Given the description of an element on the screen output the (x, y) to click on. 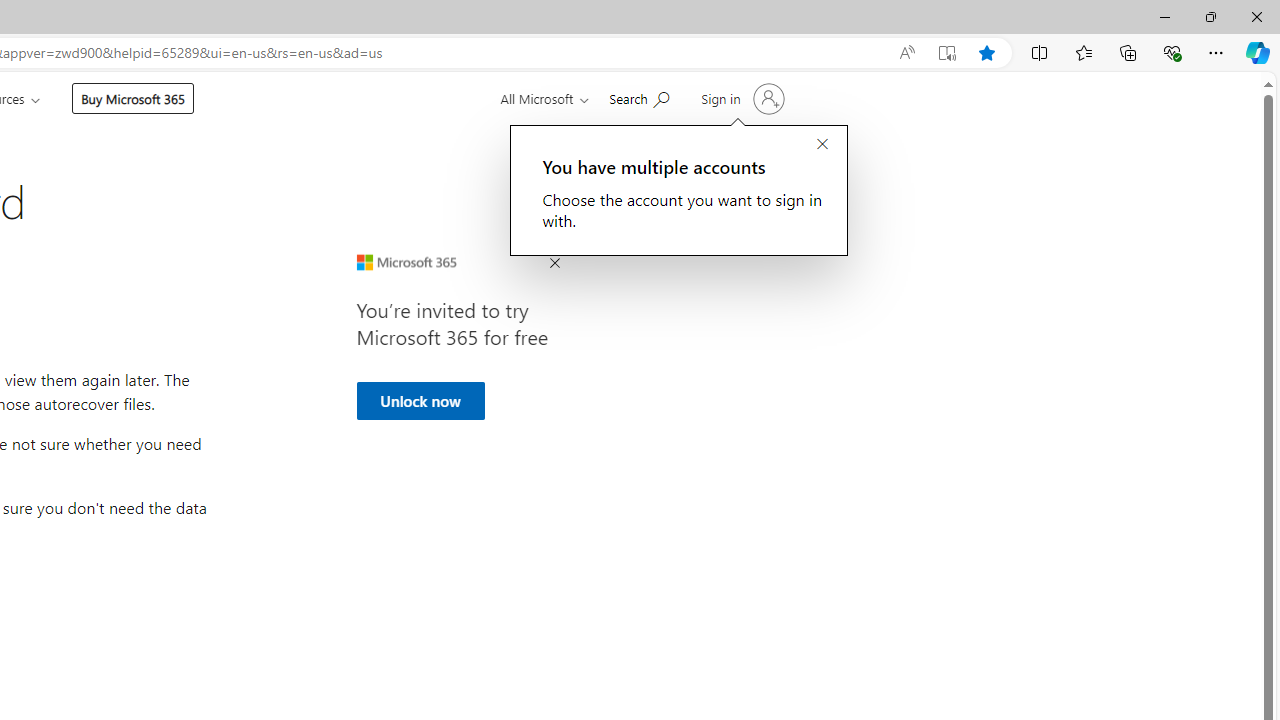
Copilot (Ctrl+Shift+.) (1258, 52)
Enter Immersive Reader (F9) (946, 53)
Close callout prompt. (822, 145)
Sign in to your account (740, 98)
Buy Microsoft 365 (132, 97)
Favorites (1083, 52)
Unlock now (420, 399)
Collections (1128, 52)
Browser essentials (1171, 52)
Add this page to favorites (Ctrl+D) (986, 53)
Search for help (639, 97)
